Given the description of an element on the screen output the (x, y) to click on. 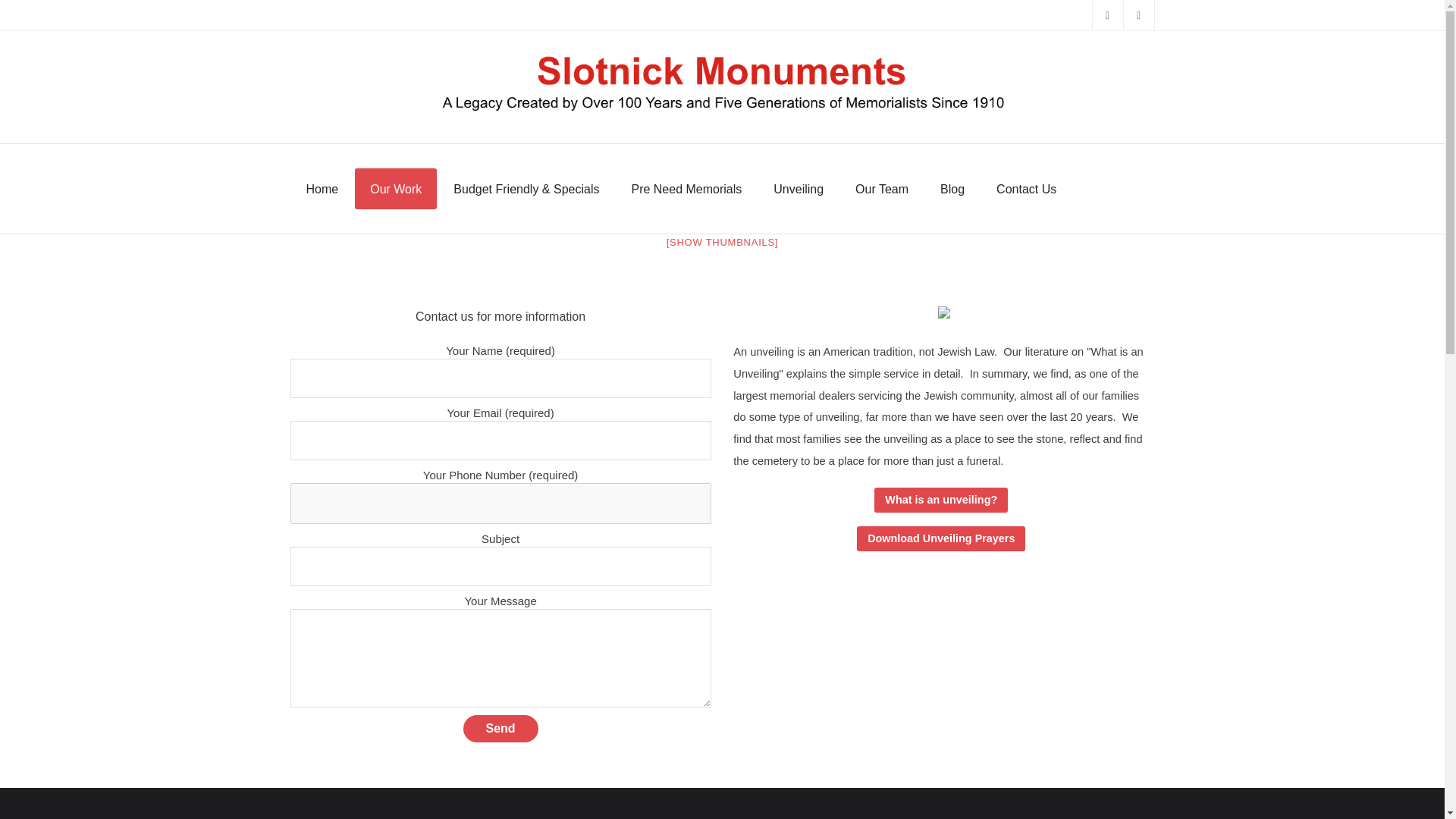
Home (322, 188)
Send (500, 728)
Our Team (881, 188)
Blog (951, 188)
Contact Us (1026, 188)
Unveiling (798, 188)
Our Work (395, 188)
Pre Need Memorials (686, 188)
